Given the description of an element on the screen output the (x, y) to click on. 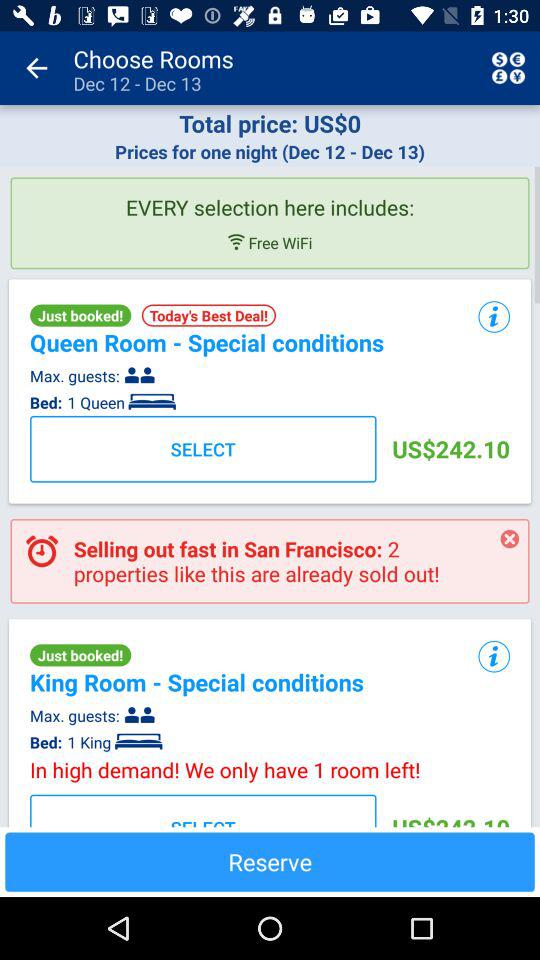
launch the icon below prices for one icon (269, 199)
